Given the description of an element on the screen output the (x, y) to click on. 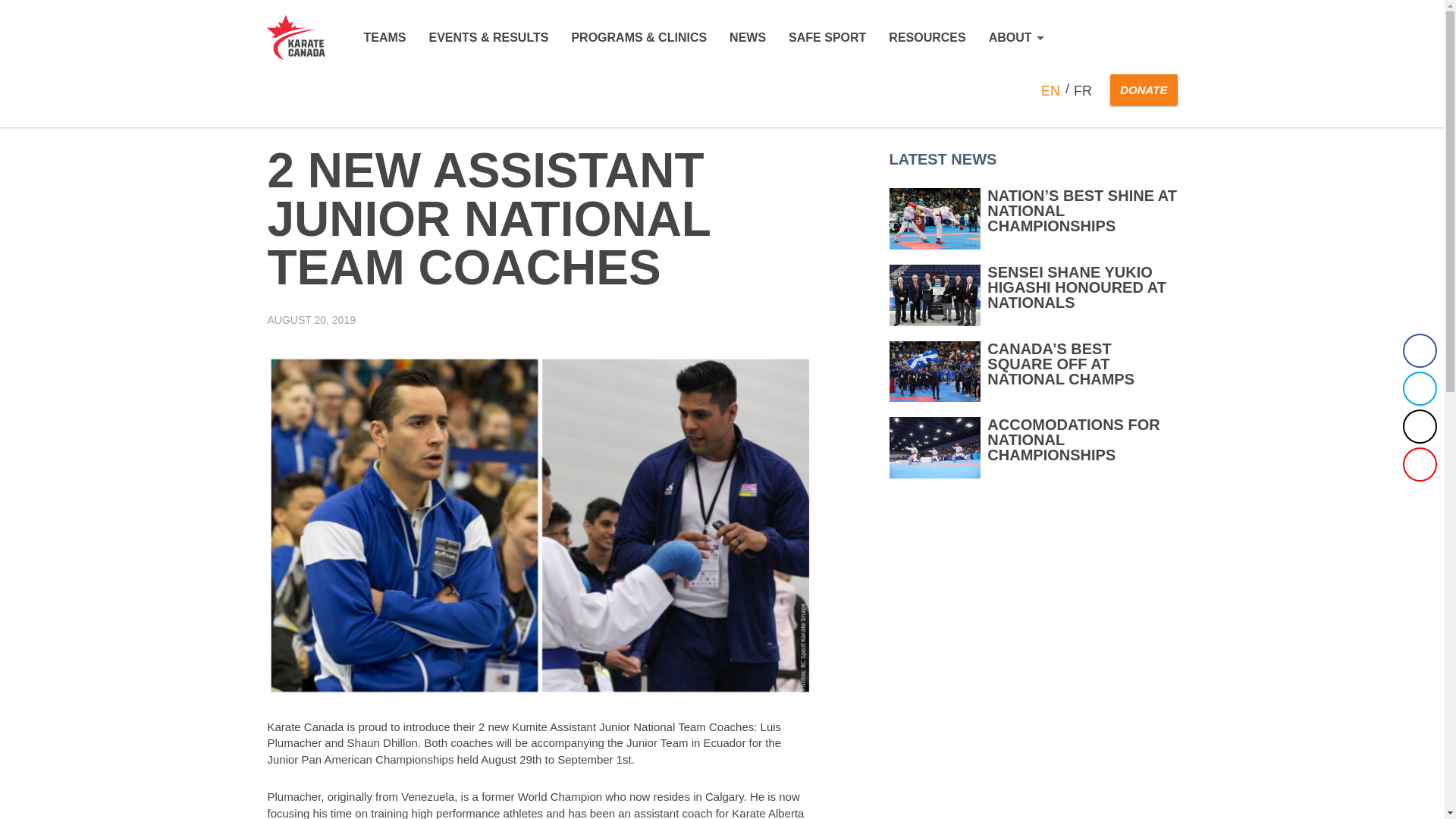
RESOURCES (926, 38)
SAFE SPORT (827, 38)
TEAMS (384, 38)
ABOUT (1015, 38)
NEWS (747, 38)
